Given the description of an element on the screen output the (x, y) to click on. 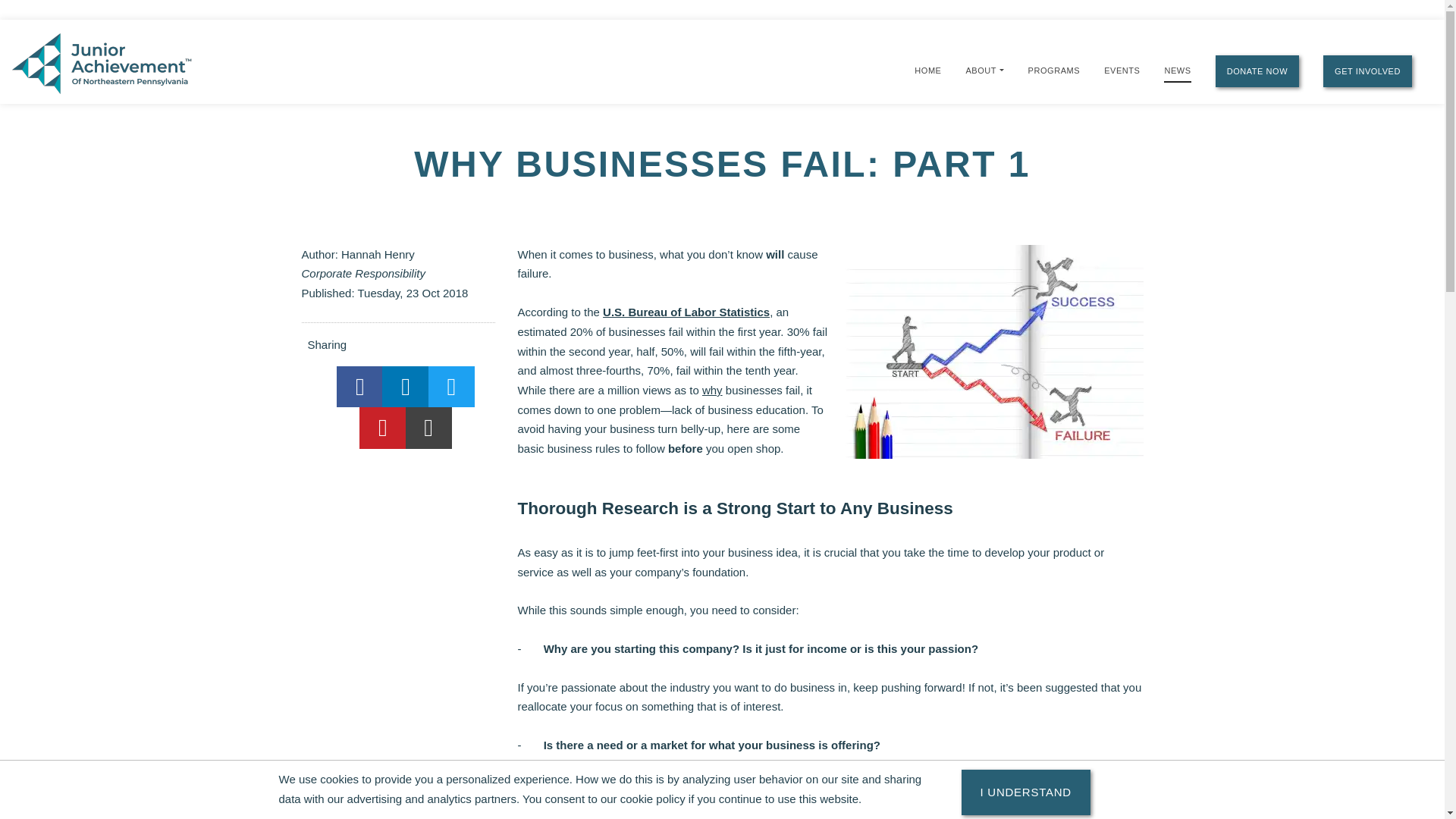
ABOUT (980, 70)
Go to About page (980, 70)
Go to Get Involved page (1367, 70)
NEWS (1177, 70)
U.S. Bureau of Labor Statistics (686, 311)
Go to Donate Now page (1256, 70)
DONATE NOW (1256, 70)
Go to Programs page (1053, 70)
GET INVOLVED (1367, 70)
